Given the description of an element on the screen output the (x, y) to click on. 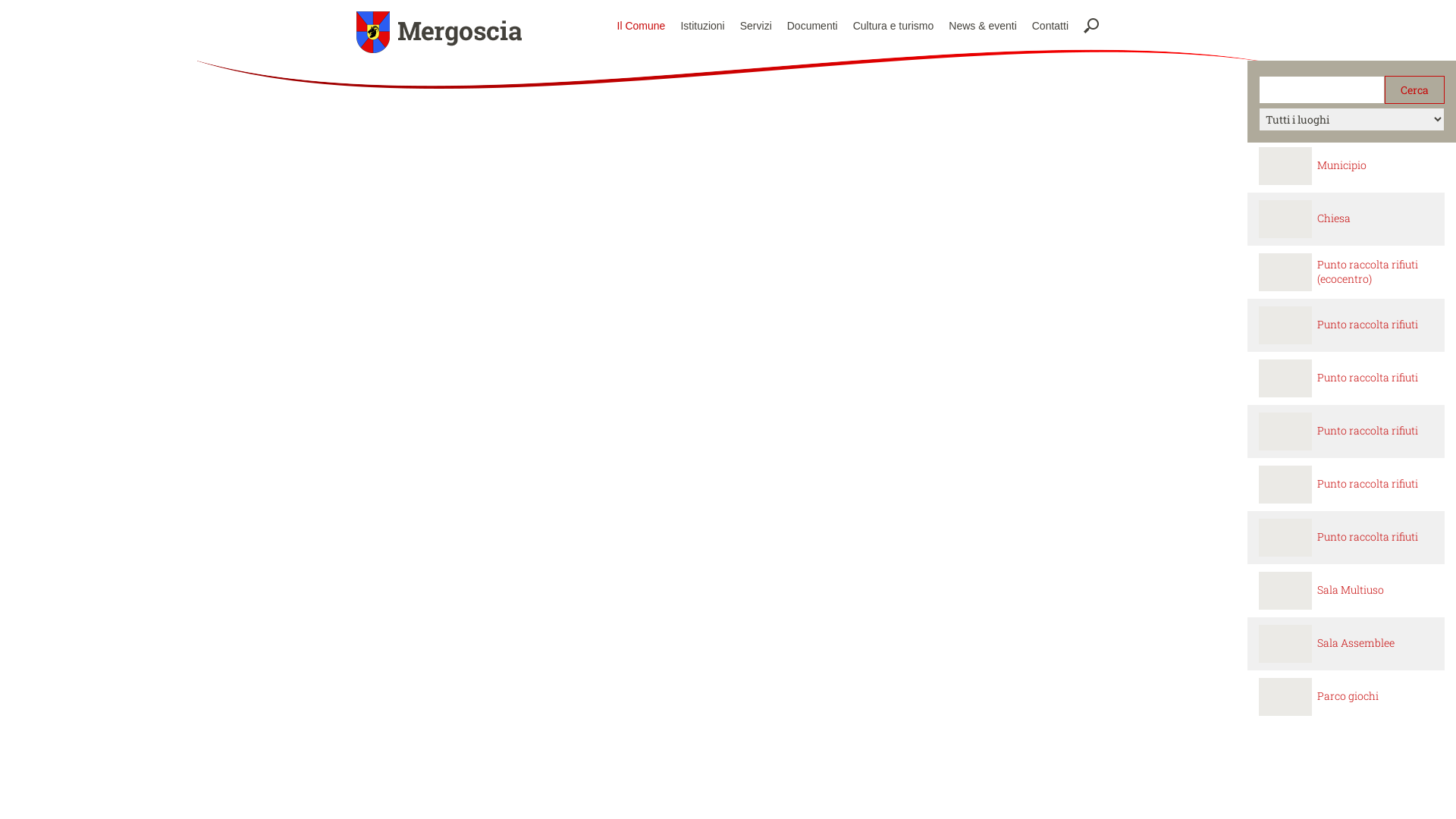
Chiesa Element type: text (1333, 217)
  Element type: text (1259, 207)
Cerca Element type: text (1414, 89)
Punto raccolta rifiuti Element type: text (1367, 323)
Punto raccolta rifiuti Element type: text (1367, 430)
Parco giochi Element type: text (1347, 695)
Punto raccolta rifiuti Element type: text (1367, 377)
  Element type: text (1259, 154)
Servizi Element type: text (755, 25)
  Element type: text (1259, 578)
Contatti Element type: text (1050, 25)
  Element type: text (1259, 631)
  Element type: text (1259, 472)
  Element type: text (1259, 684)
  Element type: text (1259, 419)
Istituzioni Element type: text (701, 25)
Cultura e turismo Element type: text (893, 25)
  Element type: text (1259, 366)
  Element type: text (1259, 313)
  Element type: text (1259, 260)
Punto raccolta rifiuti Element type: text (1367, 483)
Sala Assemblee Element type: text (1355, 642)
Punto raccolta rifiuti Element type: text (1367, 536)
Punto raccolta rifiuti (ecocentro) Element type: text (1367, 271)
Sala Multiuso Element type: text (1350, 589)
Municipio Element type: text (1341, 164)
  Element type: text (1259, 525)
Il Comune Element type: text (641, 25)
Documenti Element type: text (812, 25)
News & eventi Element type: text (982, 25)
